Given the description of an element on the screen output the (x, y) to click on. 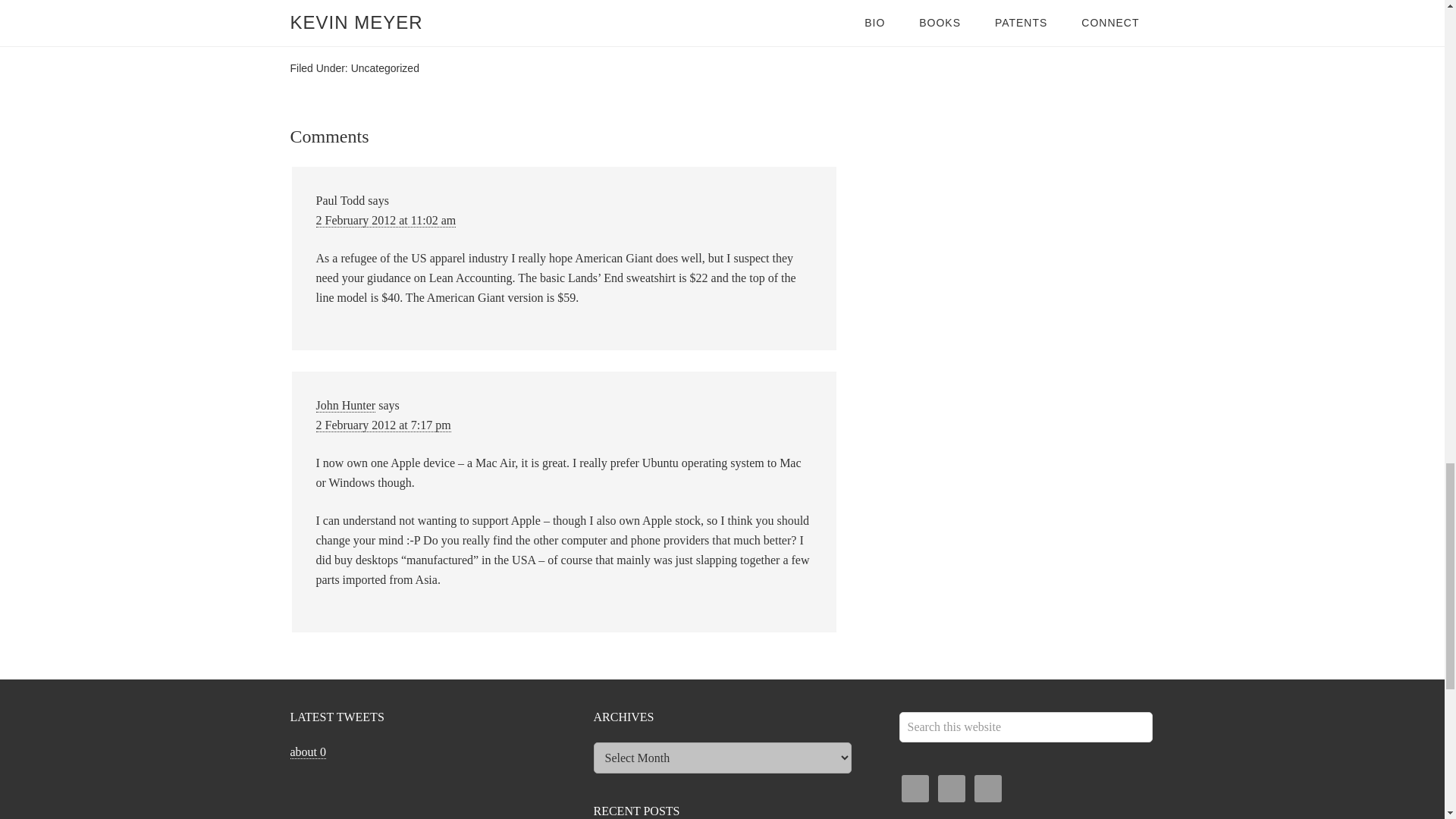
2 February 2012 at 11:02 am (385, 220)
2 February 2012 at 7:17 pm (382, 425)
John Hunter (345, 405)
about 0 (307, 752)
Uncategorized (384, 68)
